Given the description of an element on the screen output the (x, y) to click on. 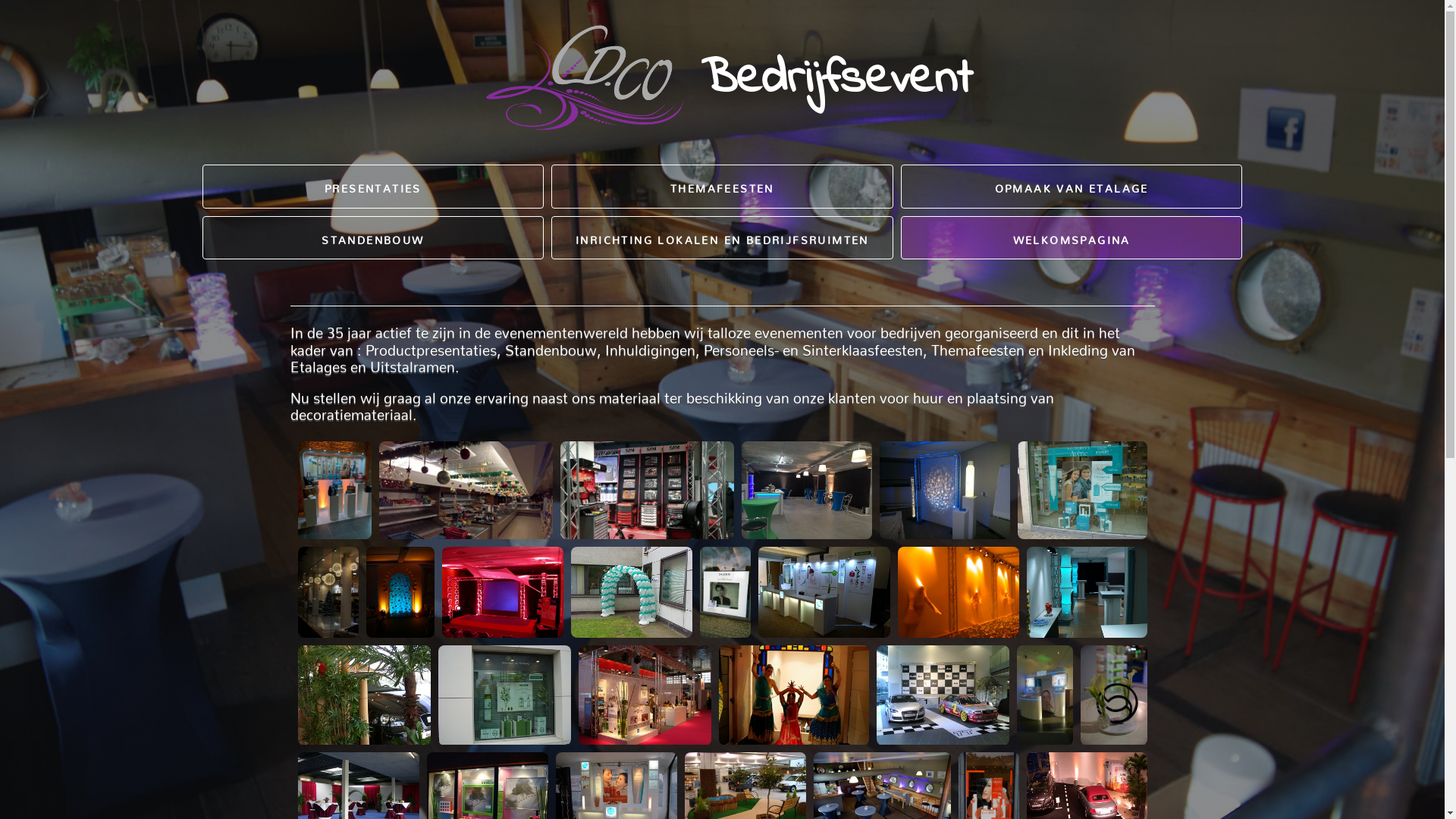
STANDENBOUW Element type: text (375, 363)
THEMAFEESTEN Element type: text (727, 312)
eb.ocdc@ofni Element type: text (810, 615)
PRESENTATIES Element type: text (375, 312)
WELKOMSPAGINA Element type: text (1079, 363)
INRICHTING LOKALEN EN BEDRIJFSRUIMTEN Element type: text (727, 363)
OPMAAK VAN ETALAGE Element type: text (1079, 312)
